Given the description of an element on the screen output the (x, y) to click on. 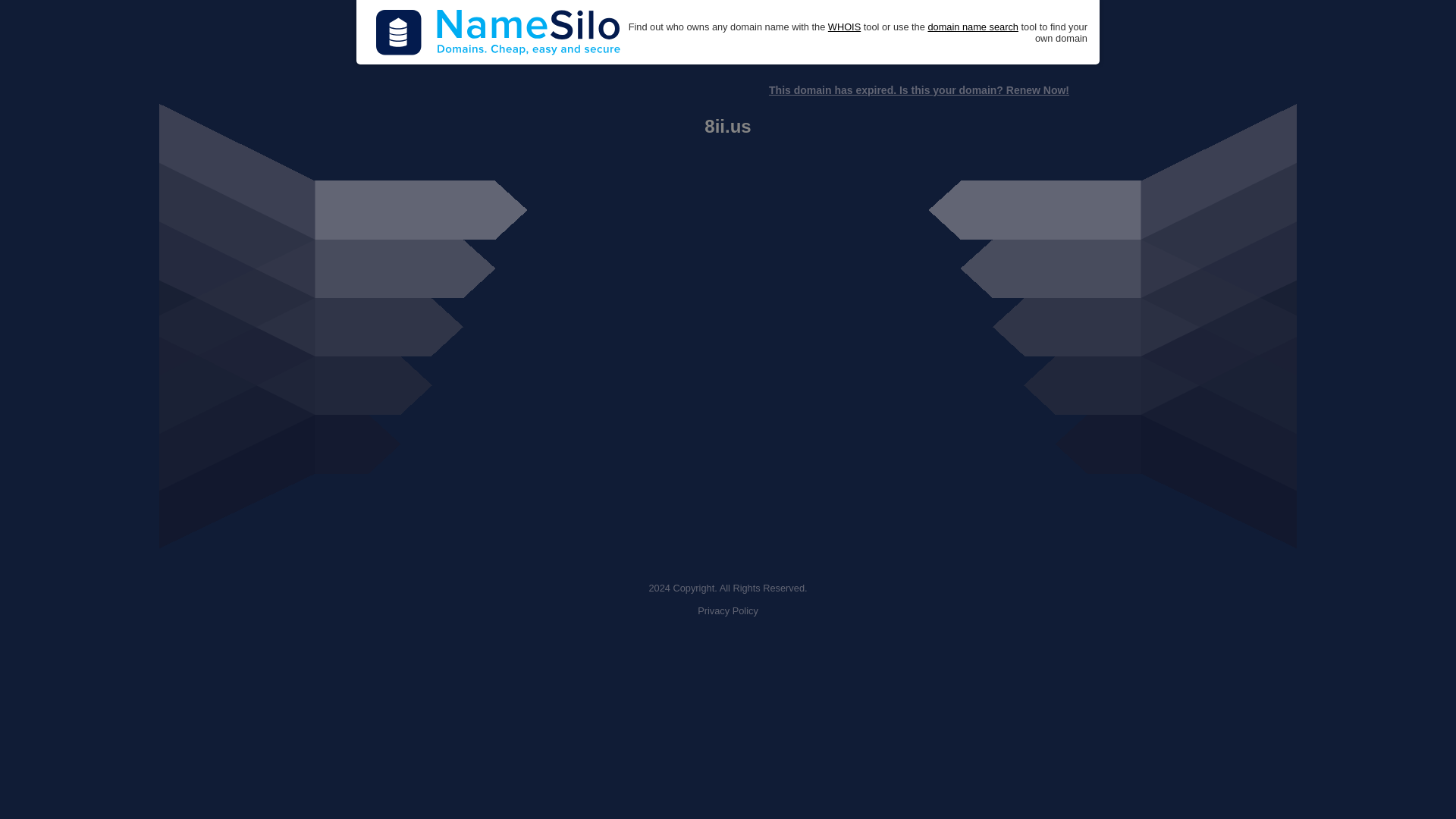
domain name search (972, 26)
This domain has expired. Is this your domain? Renew Now! (918, 90)
Privacy Policy (727, 610)
WHOIS (844, 26)
